Given the description of an element on the screen output the (x, y) to click on. 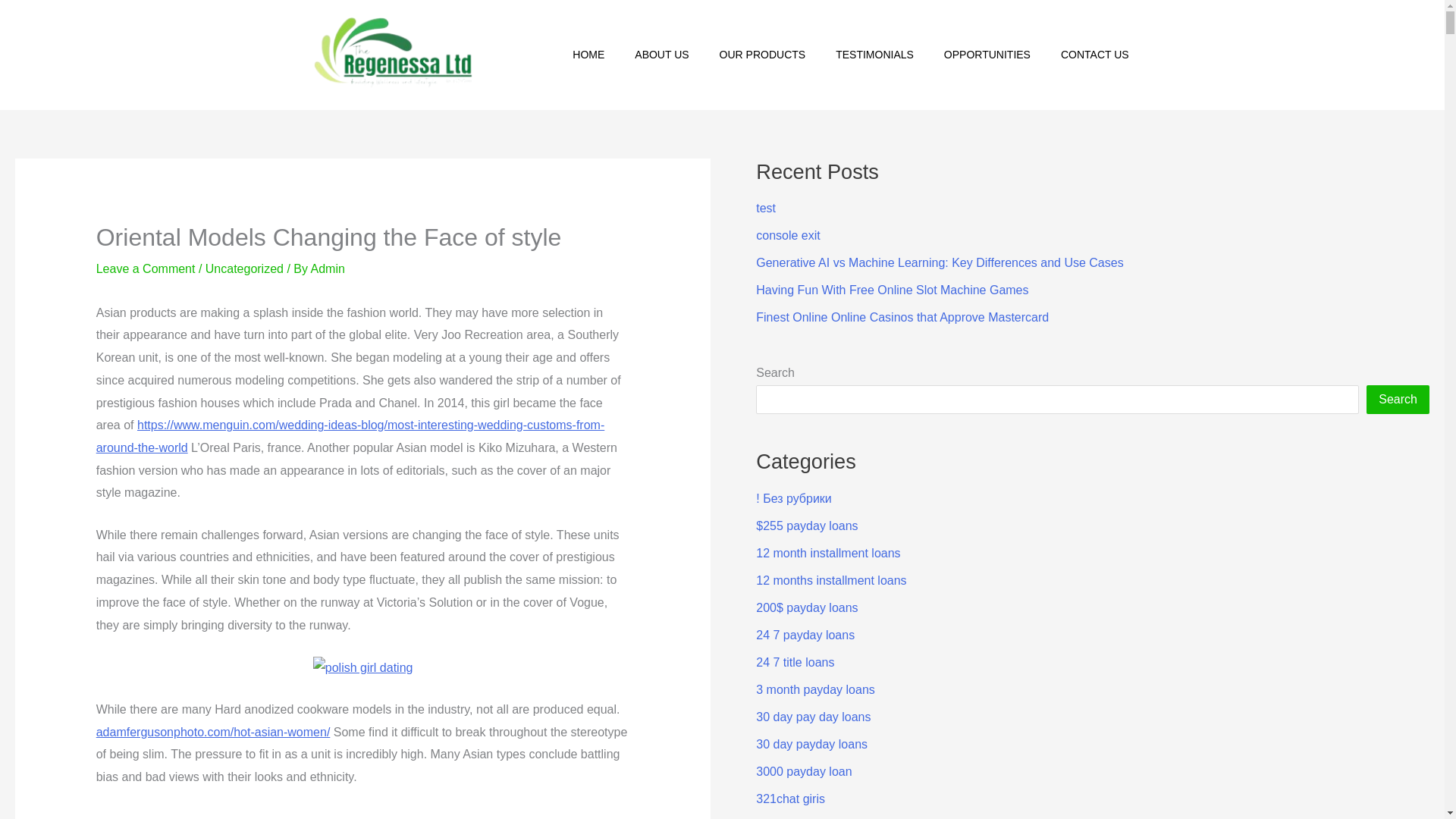
CONTACT US (1094, 54)
test (765, 207)
HOME (588, 54)
Finest Online Online Casinos that Approve Mastercard (901, 317)
TESTIMONIALS (874, 54)
ABOUT US (661, 54)
Leave a Comment (145, 268)
View all posts by Admin (328, 268)
Having Fun With Free Online Slot Machine Games (891, 289)
console exit (788, 235)
